Given the description of an element on the screen output the (x, y) to click on. 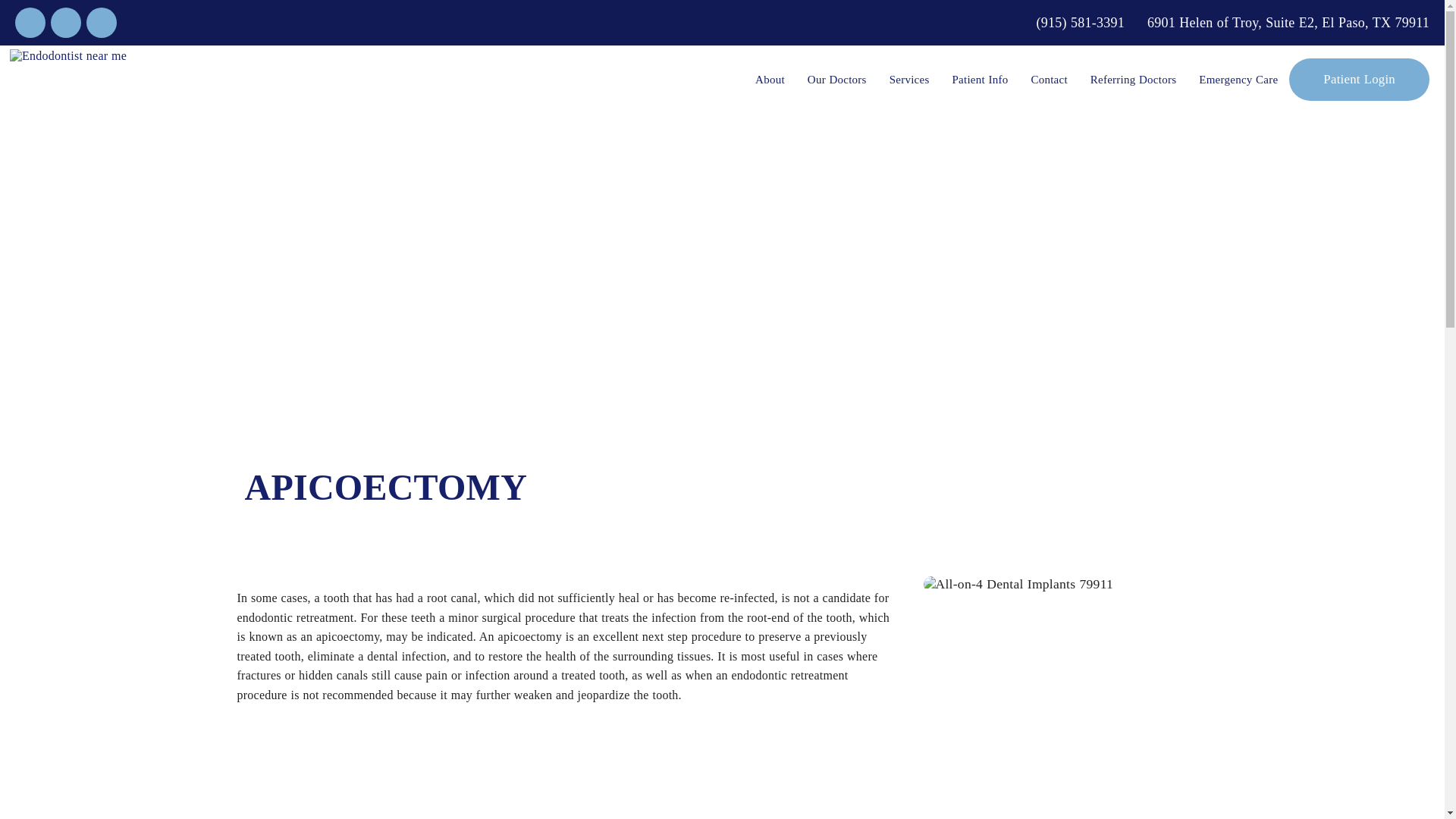
6901 Helen of Troy, Suite E2, El Paso, TX 79911 (1288, 23)
Patient Login (1358, 79)
